Given the description of an element on the screen output the (x, y) to click on. 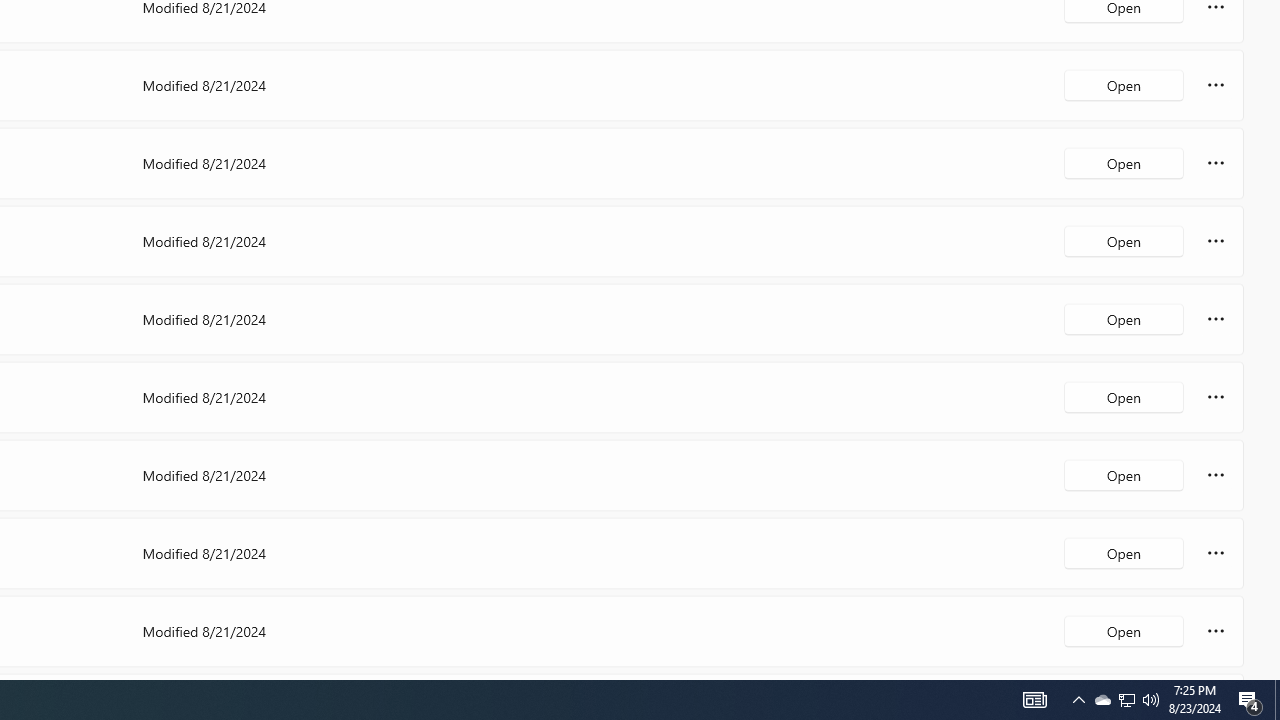
More options (1215, 630)
Open (1123, 630)
Vertical Small Increase (1272, 672)
